Given the description of an element on the screen output the (x, y) to click on. 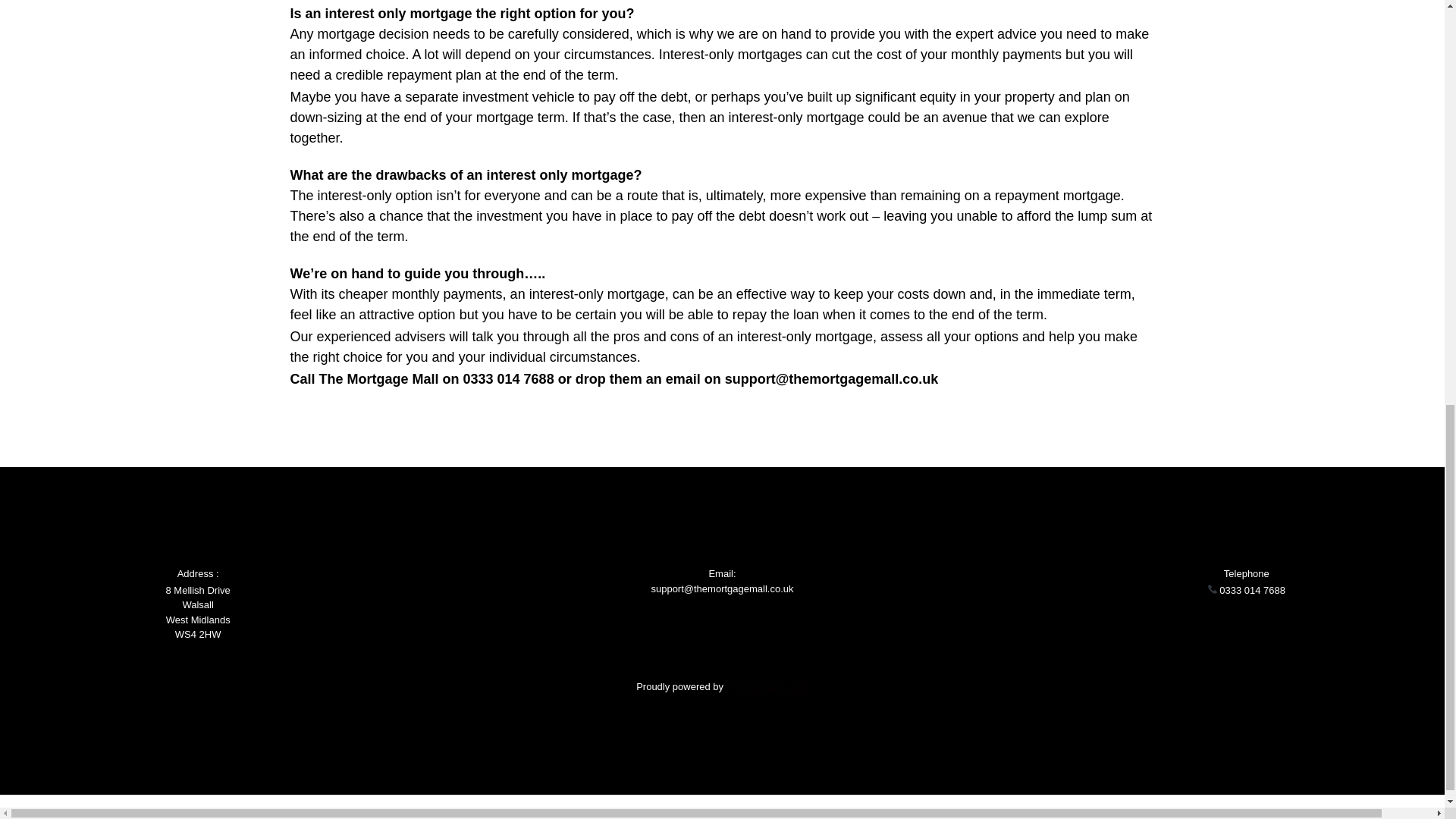
The Mortgage Mall (766, 686)
